Given the description of an element on the screen output the (x, y) to click on. 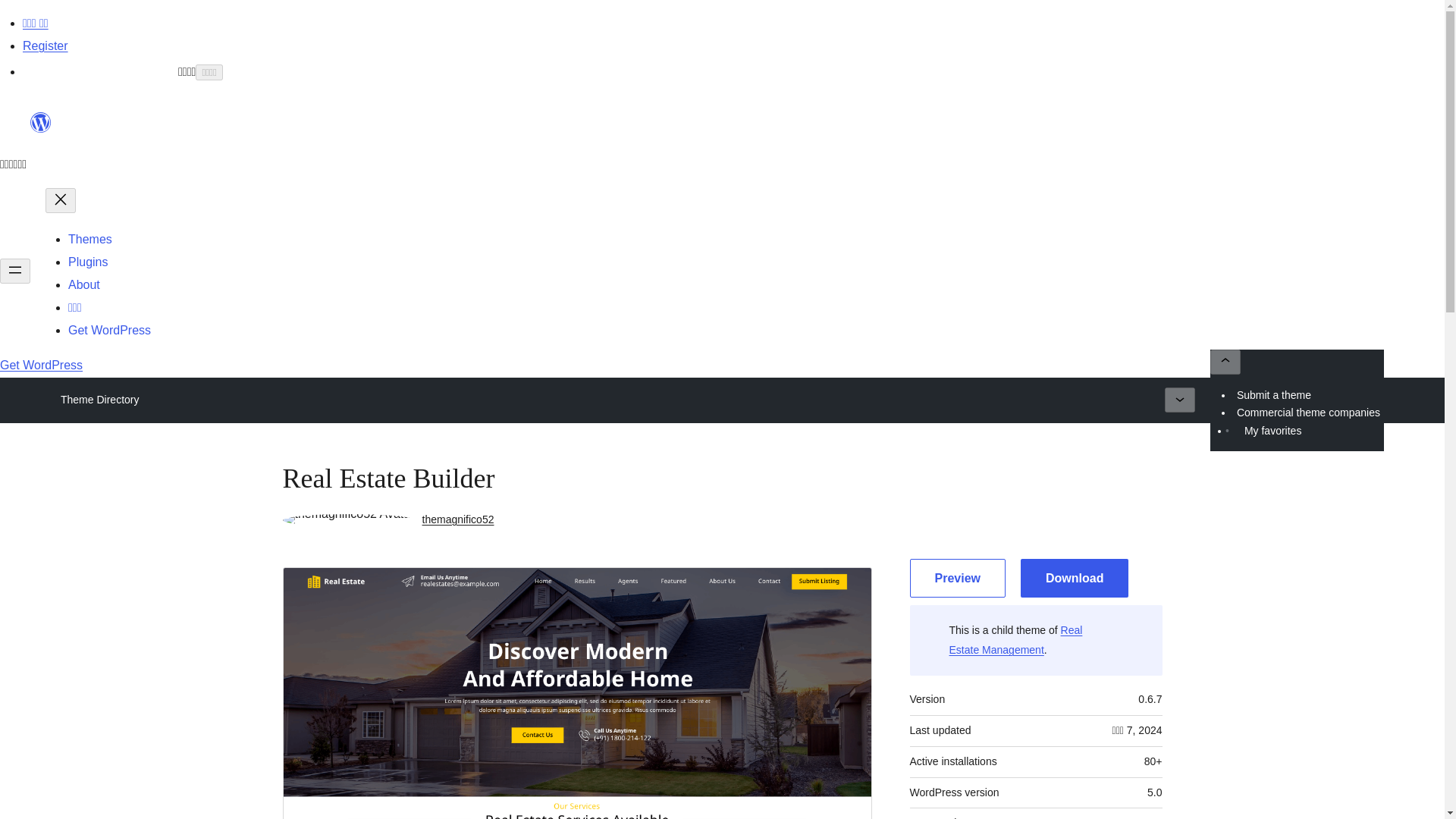
Submit a theme (1273, 394)
About (84, 284)
Theme Directory (99, 399)
Real Estate Management (1016, 640)
Commercial theme companies (1308, 412)
Plugins (87, 261)
Get WordPress (41, 364)
Register (45, 45)
Preview (958, 577)
WordPress.org (40, 128)
themagnifico52 (458, 519)
My favorites (1272, 430)
Download (1074, 577)
Themes (90, 238)
